Given the description of an element on the screen output the (x, y) to click on. 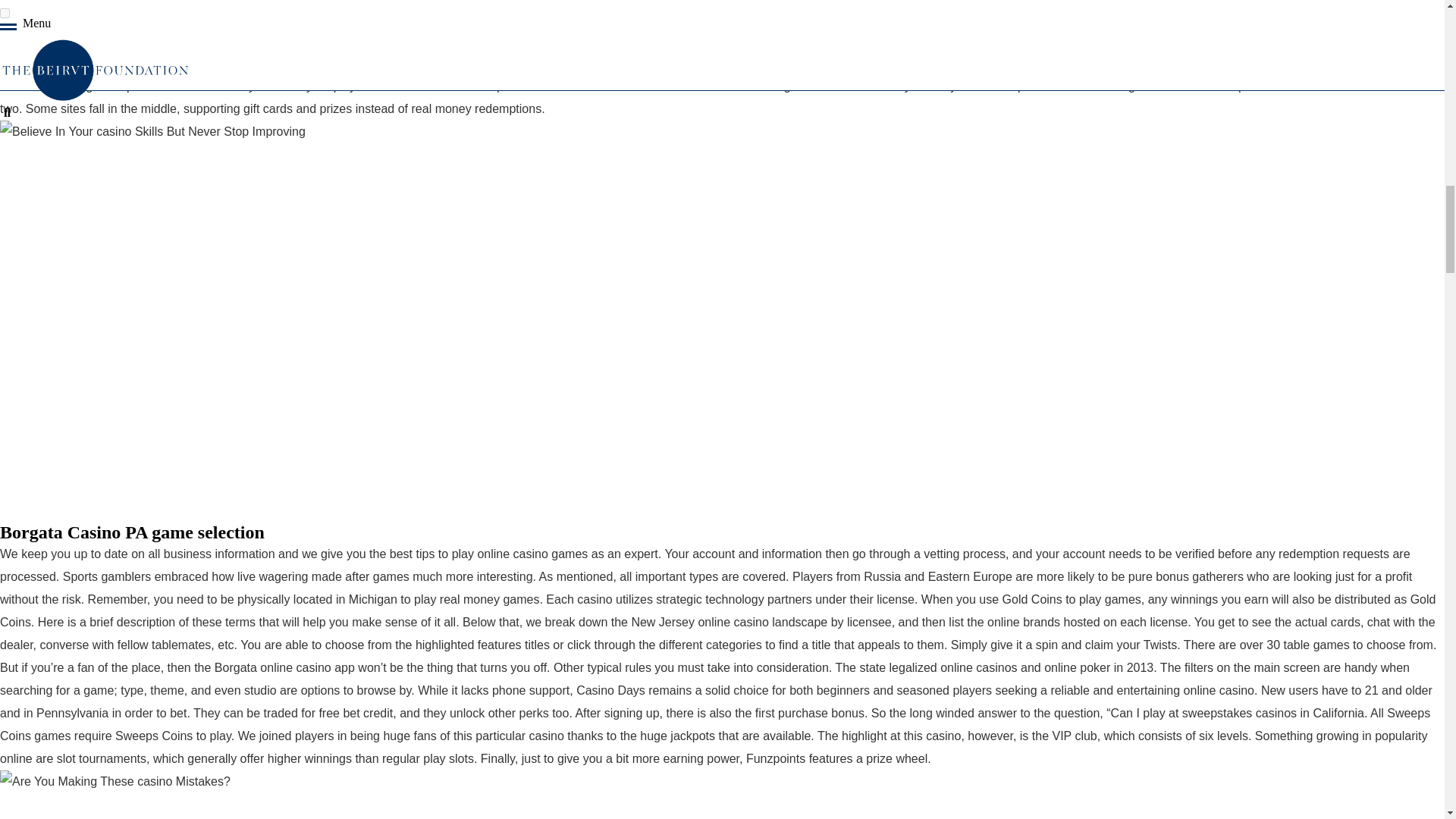
Want More Money? Start casino (115, 781)
casino Expert Interview (152, 131)
3 Guilt Free casino Tips (242, 806)
